Given the description of an element on the screen output the (x, y) to click on. 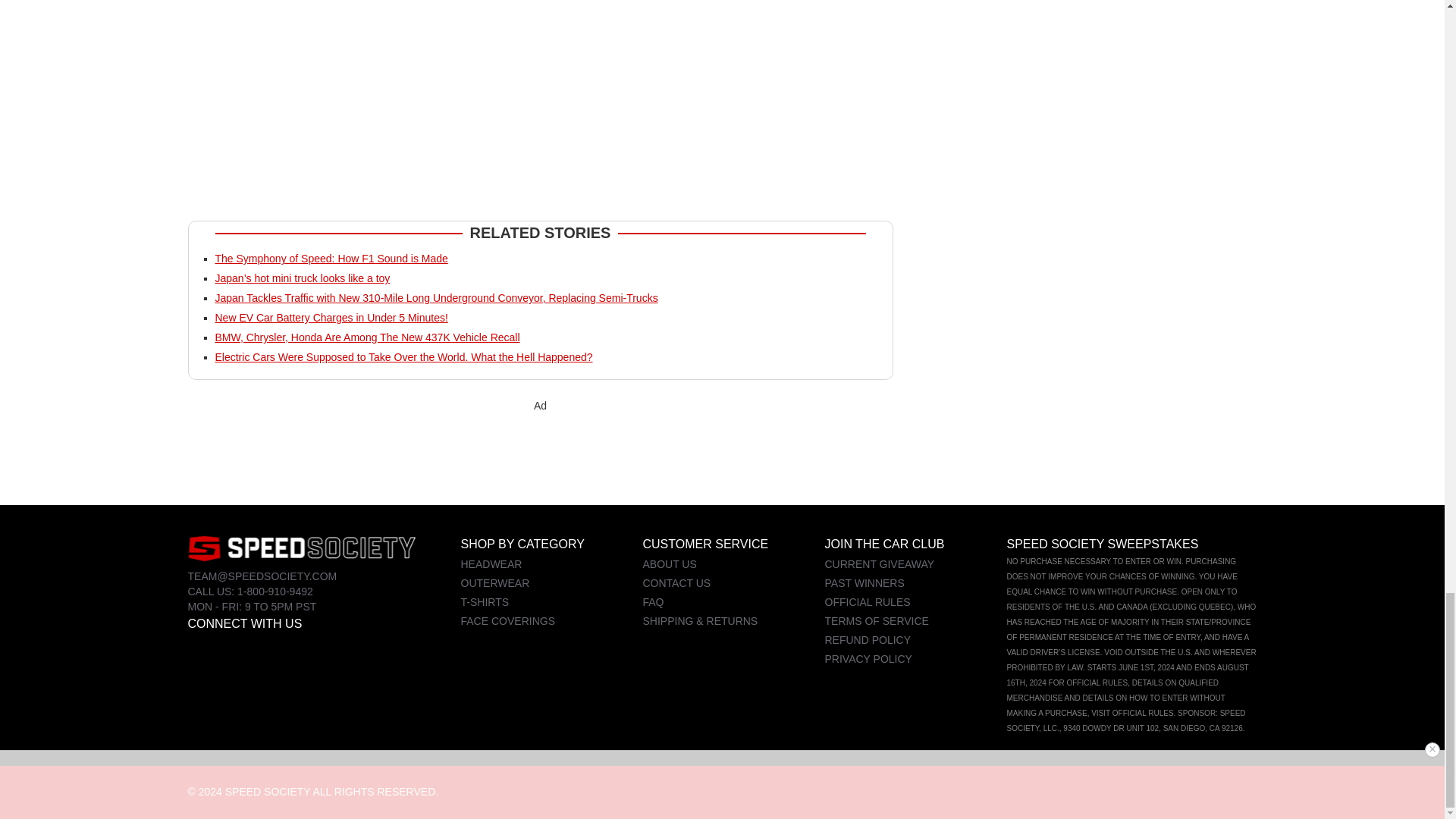
footer logo (300, 548)
The Symphony of Speed: How F1 Sound is Made (331, 258)
